Given the description of an element on the screen output the (x, y) to click on. 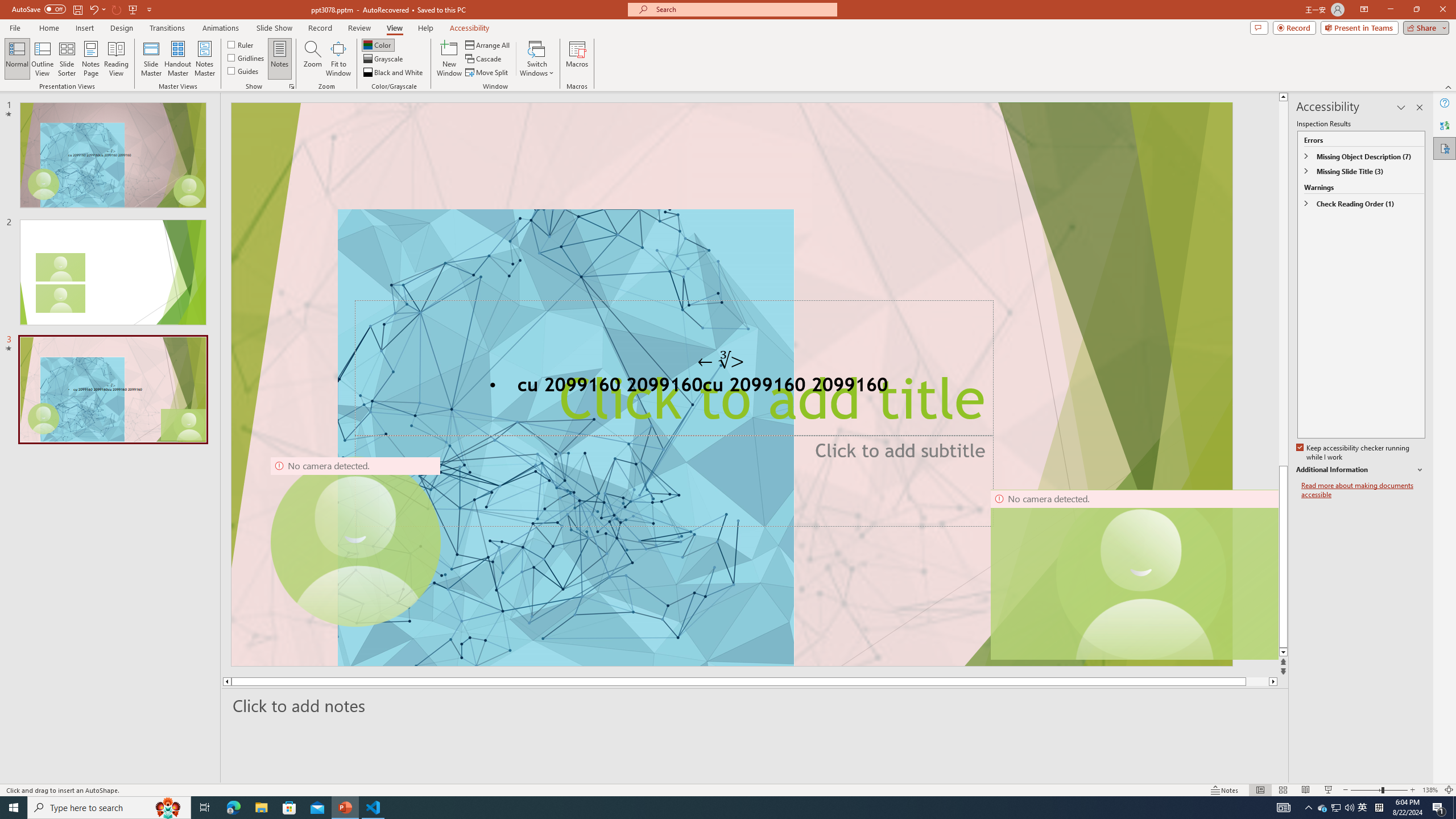
Camera 11, No camera detected. (1141, 574)
Gridlines (246, 56)
Ruler (241, 44)
Guides (243, 69)
